Given the description of an element on the screen output the (x, y) to click on. 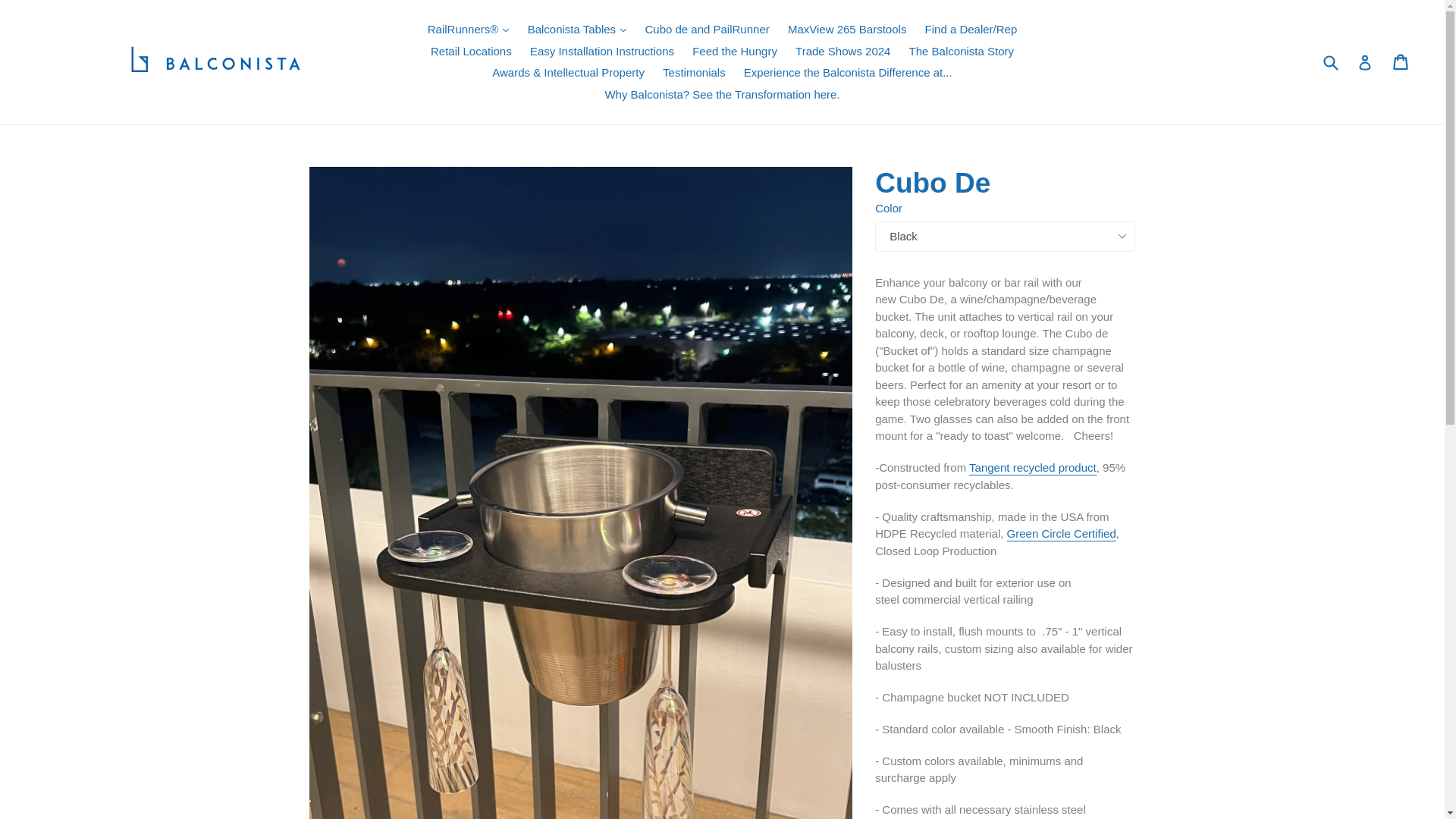
Retail Locations (471, 51)
Cubo de and PailRunner (706, 29)
Tangent (1032, 468)
Feed the Hungry (734, 51)
Green Circle Certification (1061, 534)
Easy Installation Instructions (601, 51)
MaxView 265 Barstools (847, 29)
